Given the description of an element on the screen output the (x, y) to click on. 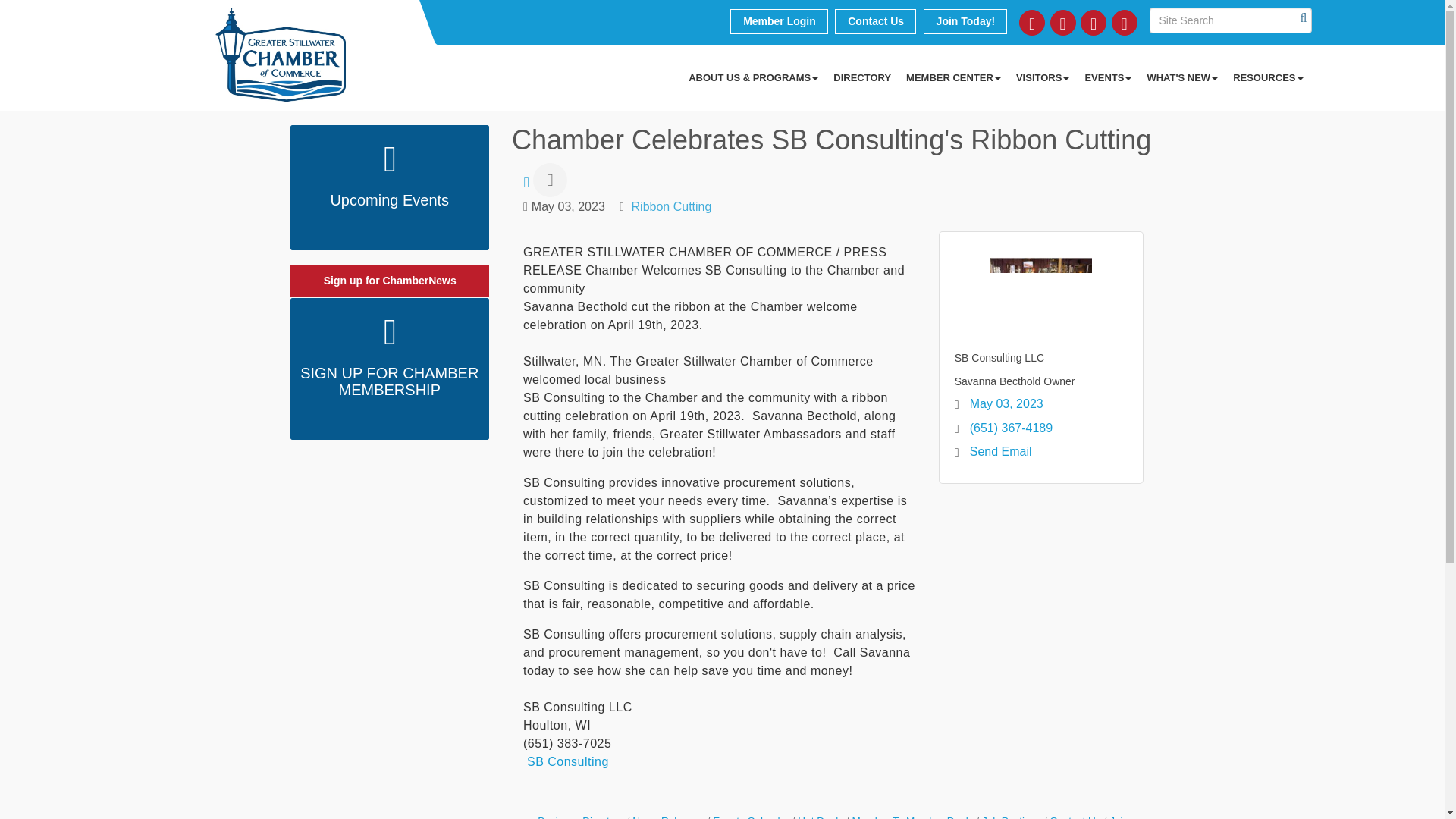
Member Login (779, 21)
Join Today! (965, 21)
Icon Link (1124, 22)
Icon Link (1093, 22)
Contact Us (874, 21)
Icon Link (1062, 22)
Icon Link (1032, 22)
DIRECTORY (861, 77)
MEMBER CENTER (953, 77)
VISITORS (1043, 77)
